Given the description of an element on the screen output the (x, y) to click on. 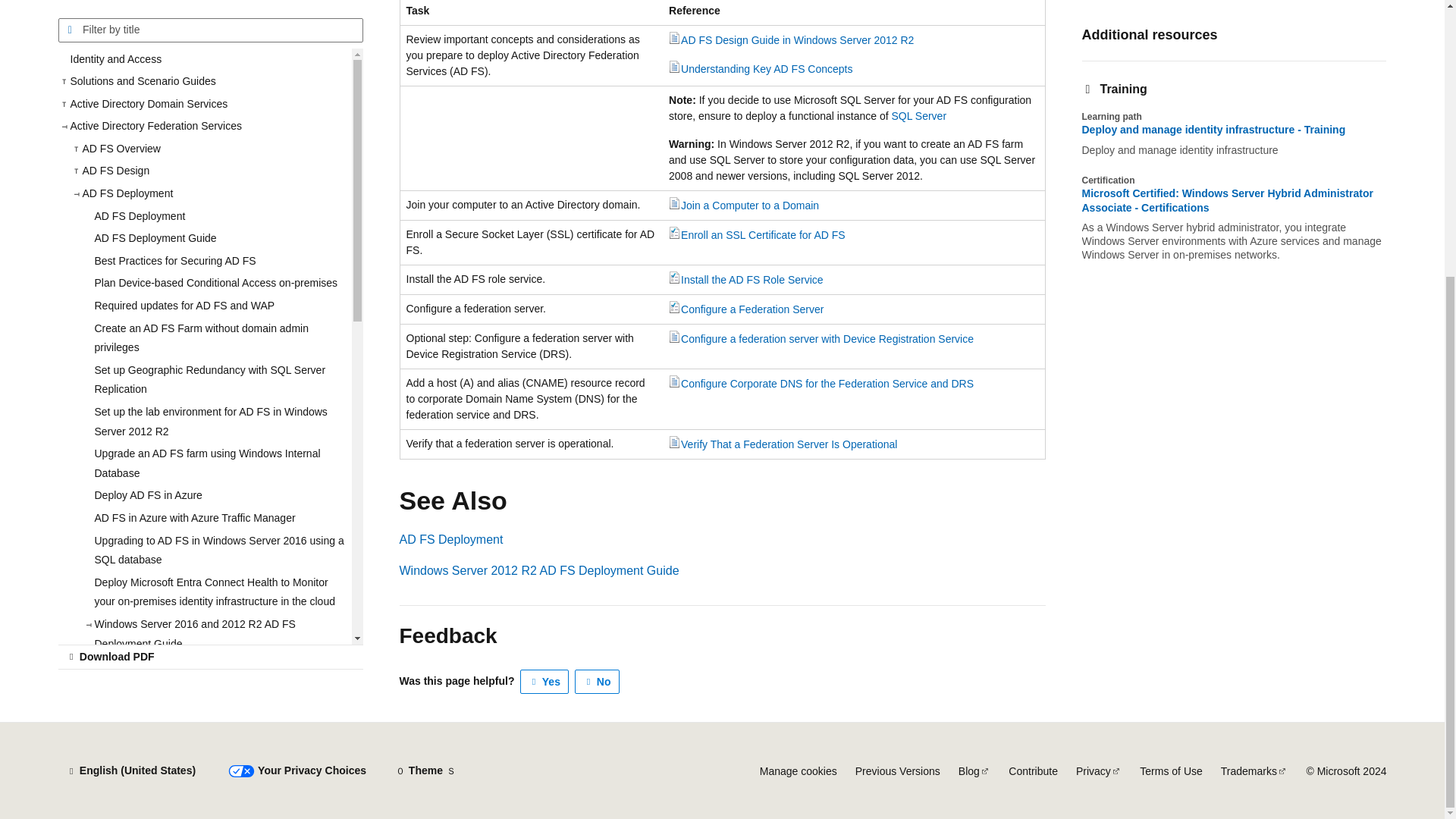
This article is helpful (544, 681)
This article is not helpful (597, 681)
Theme (425, 770)
